Given the description of an element on the screen output the (x, y) to click on. 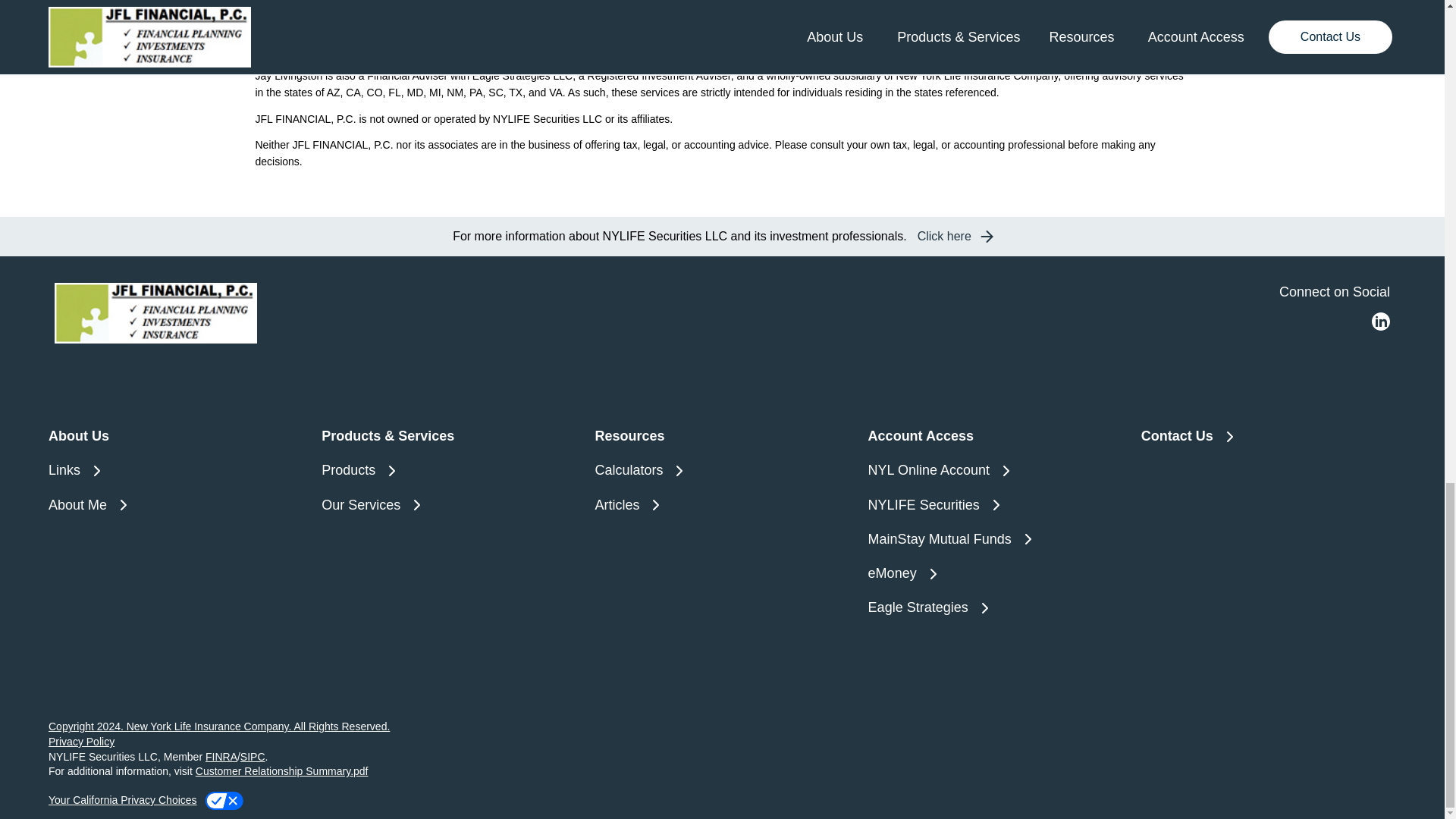
Products (448, 470)
Click here (953, 236)
Links (175, 470)
SIPC (921, 15)
NYL Online Account (994, 470)
NYLIFE Securities (994, 505)
FINRA (890, 15)
MainStay Mutual Funds (994, 538)
right-arrow (985, 236)
Calculators (721, 470)
Eagle Strategies (994, 607)
Contact Us (1268, 435)
Articles (721, 505)
